Given the description of an element on the screen output the (x, y) to click on. 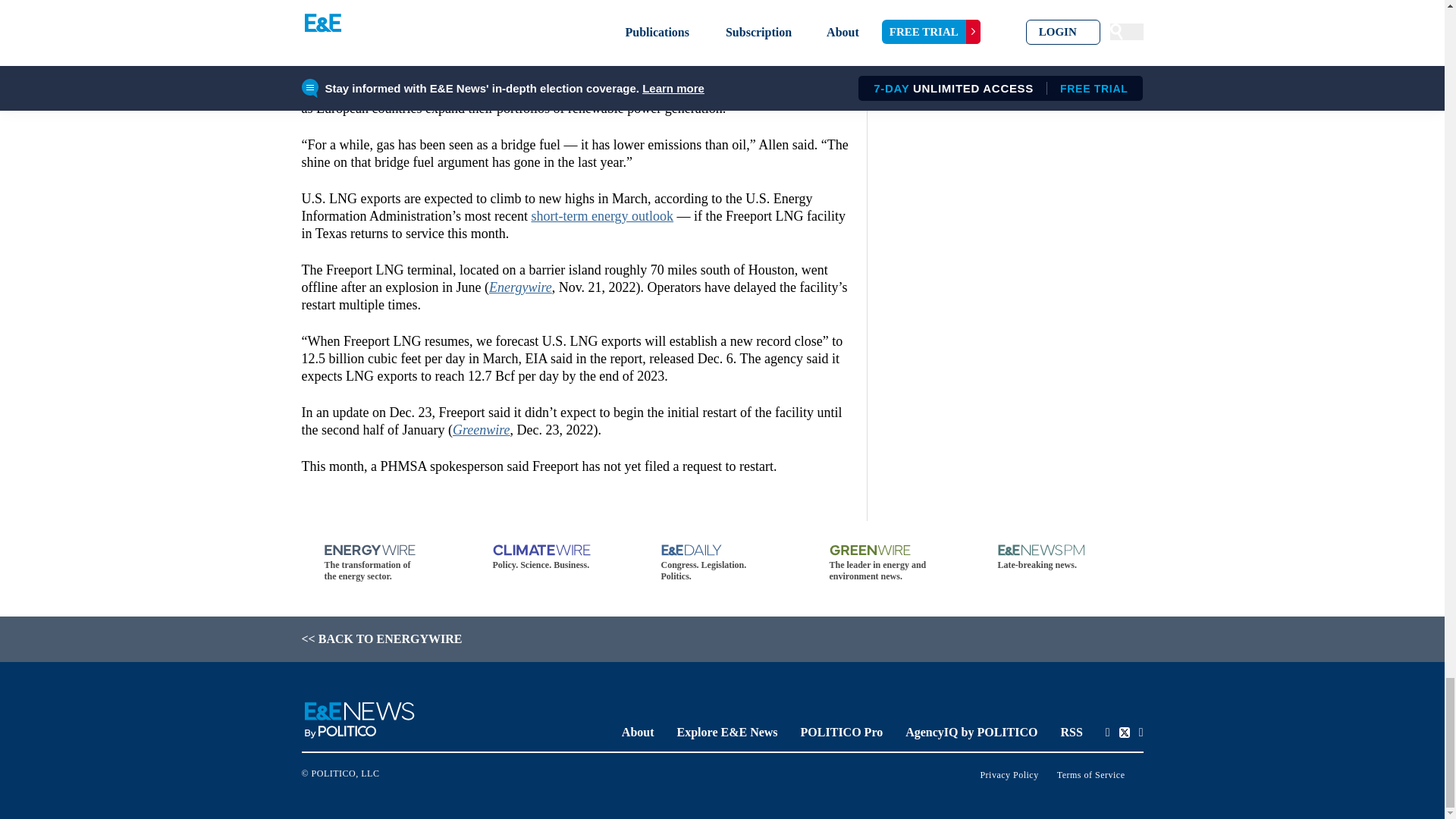
short-term energy outlook (601, 215)
International Energy Agency said (573, 82)
Energywire (520, 287)
Greenwire (481, 429)
